Given the description of an element on the screen output the (x, y) to click on. 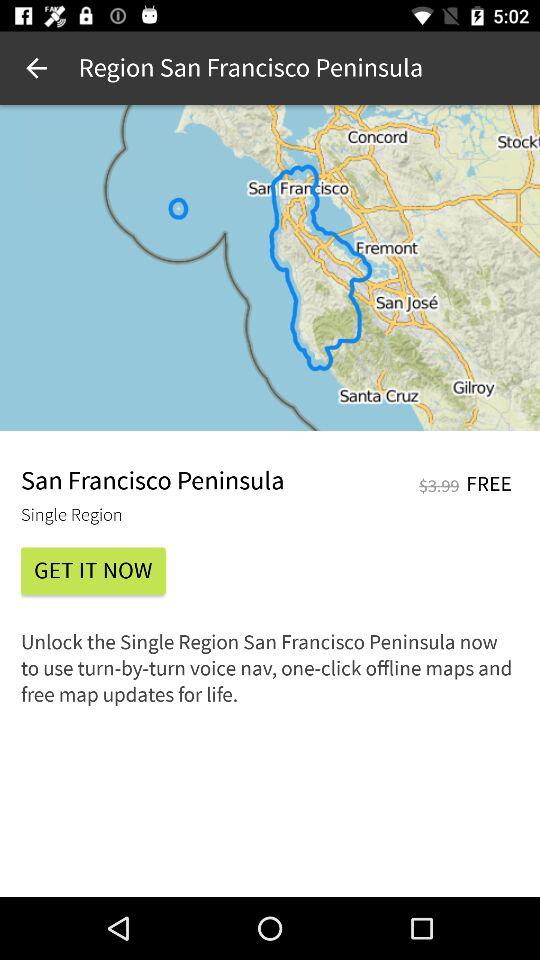
turn on the icon to the left of region san francisco icon (36, 68)
